Given the description of an element on the screen output the (x, y) to click on. 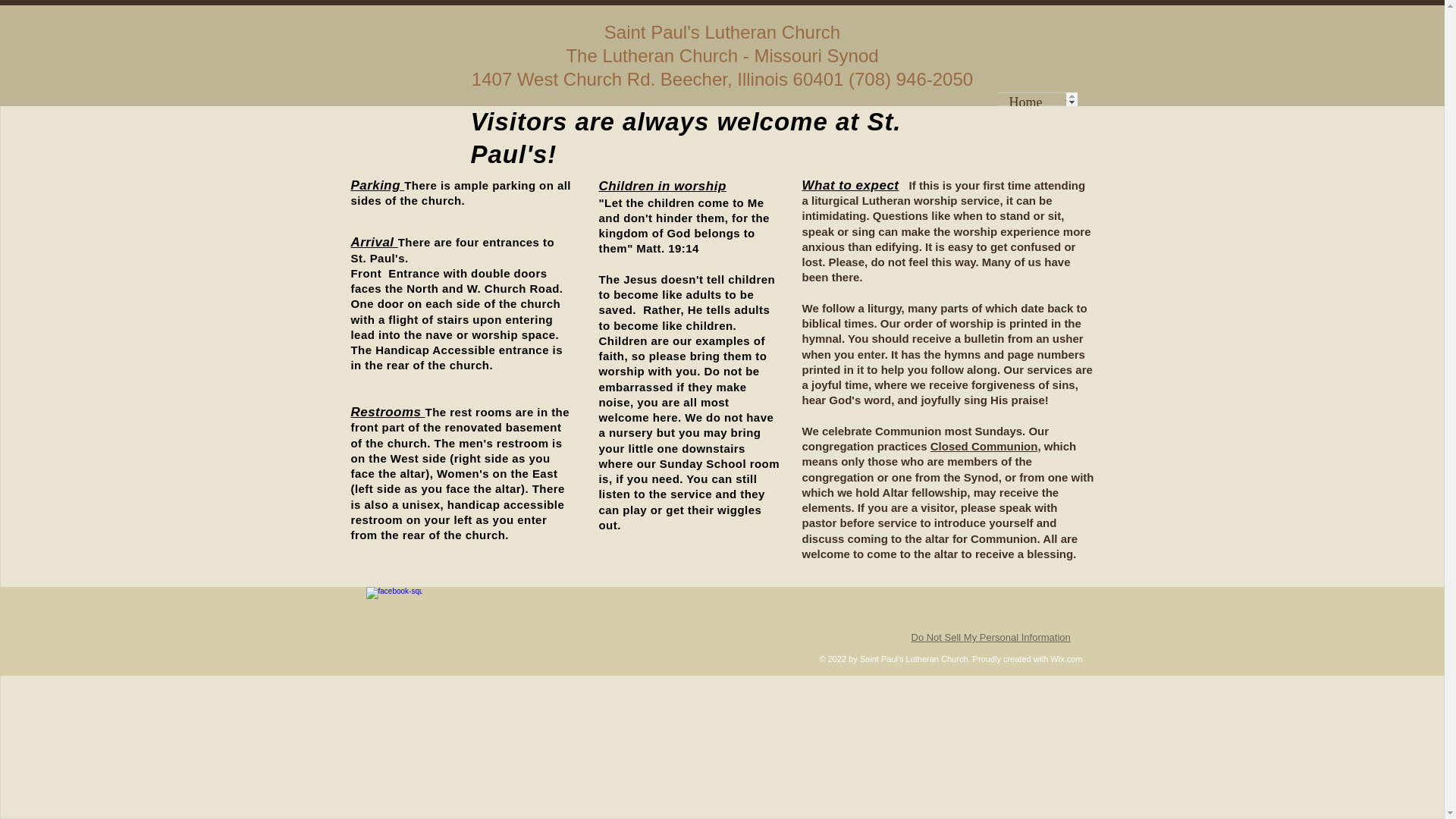
Wix.com (1065, 658)
Home (1025, 99)
Do Not Sell My Personal Information (990, 637)
Closed Communion (984, 445)
Saint Paul's Lutheran Church (722, 32)
